Given the description of an element on the screen output the (x, y) to click on. 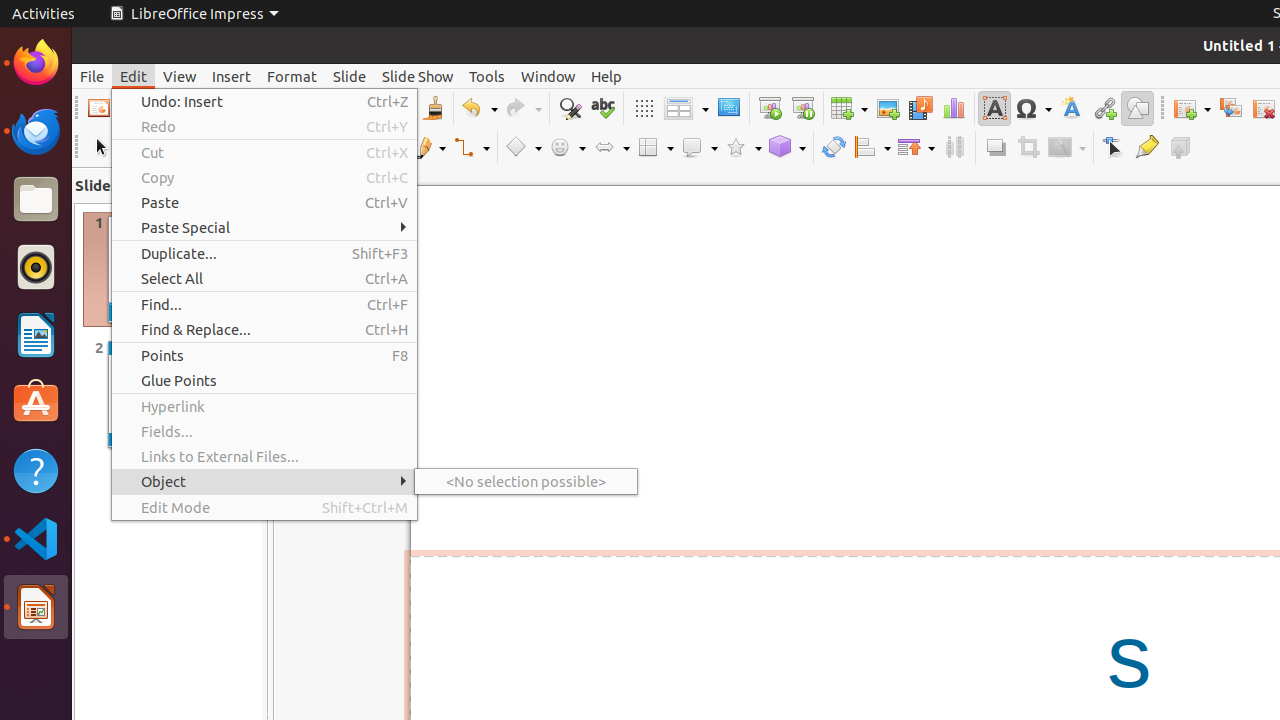
Hyperlink Element type: menu-item (264, 406)
Select All Element type: menu-item (264, 278)
